Given the description of an element on the screen output the (x, y) to click on. 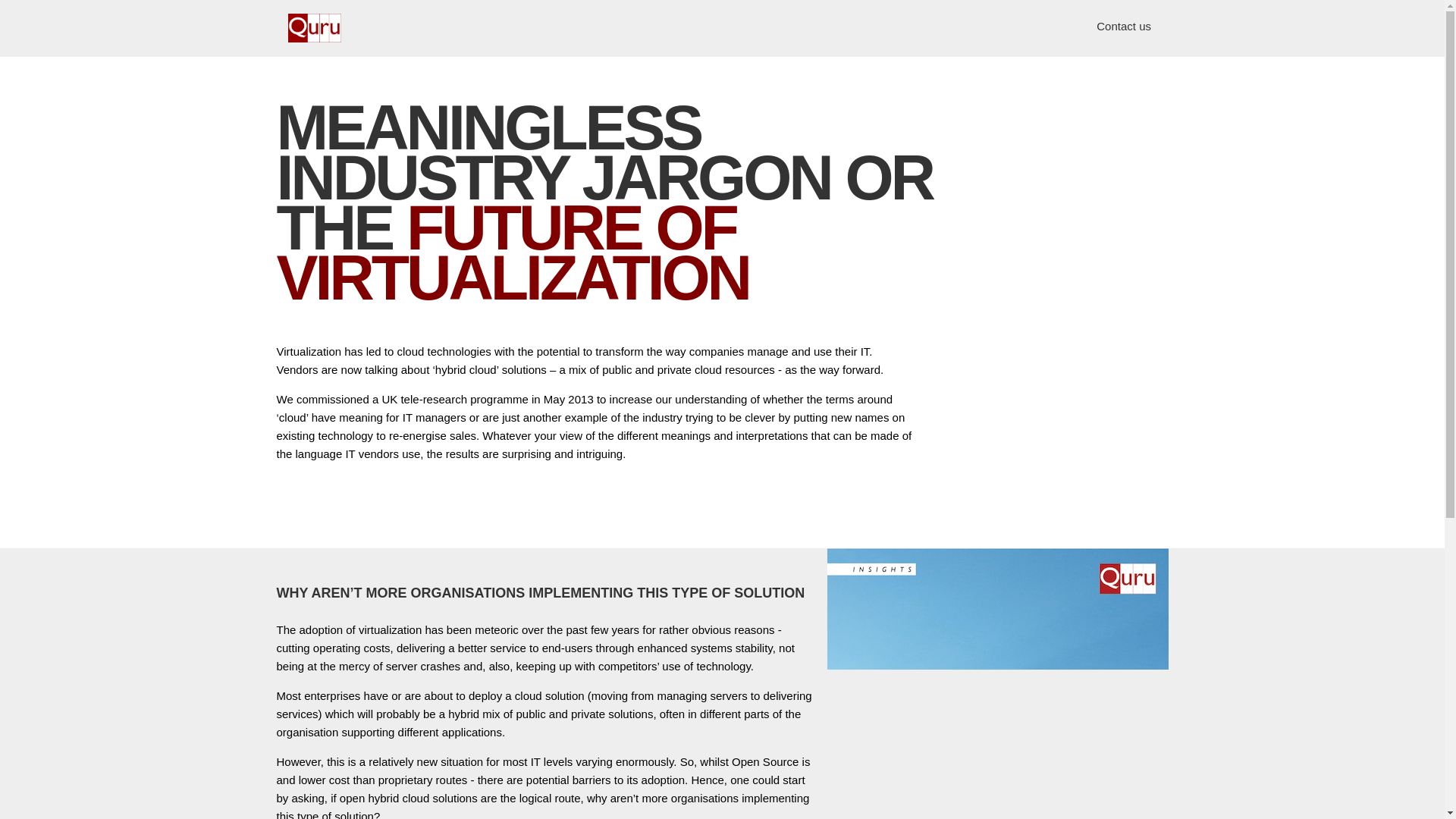
Contact us (1129, 25)
